Given the description of an element on the screen output the (x, y) to click on. 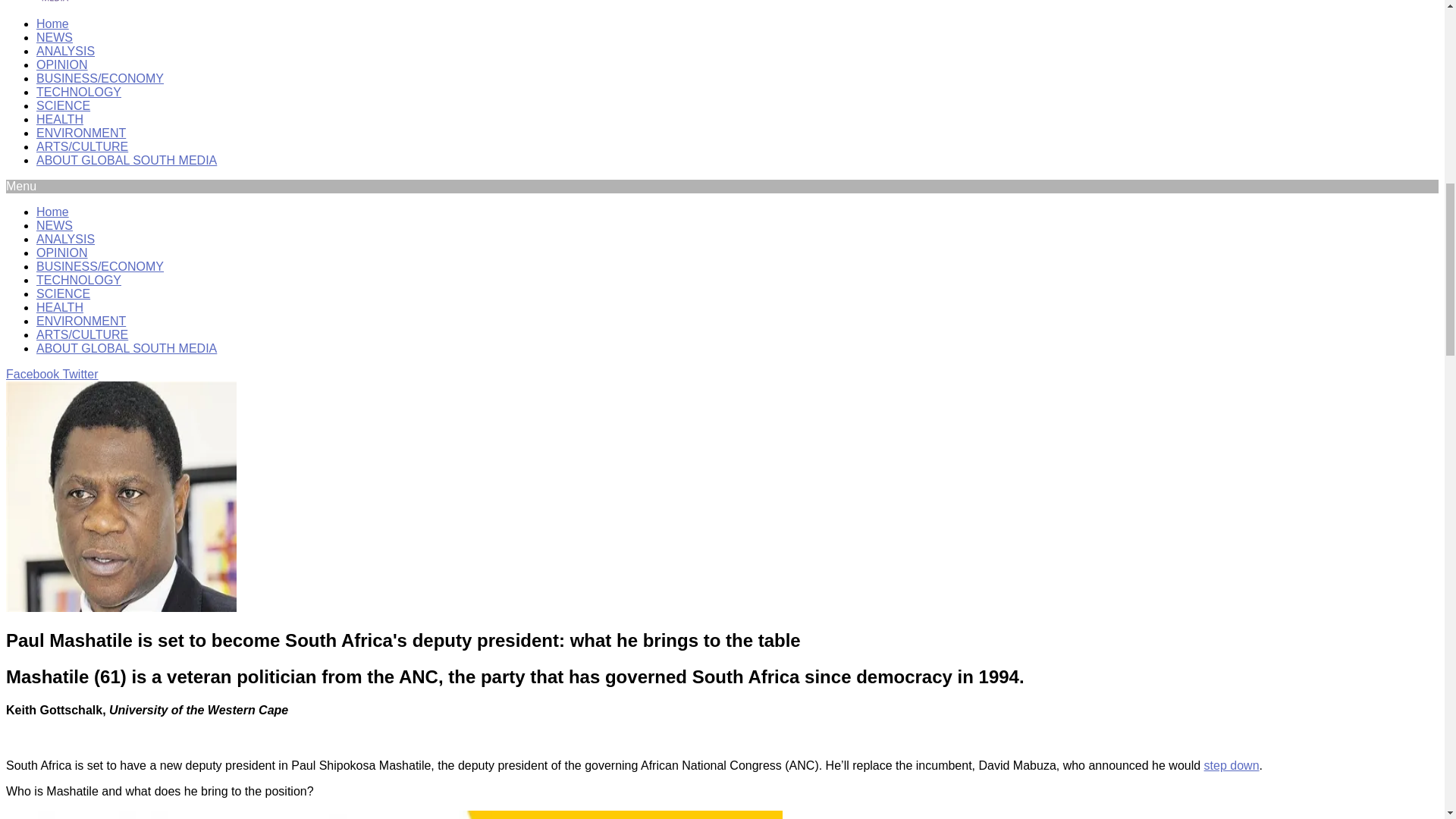
NEWS (54, 37)
Home (52, 23)
ANALYSIS (65, 51)
logo (54, 1)
